Given the description of an element on the screen output the (x, y) to click on. 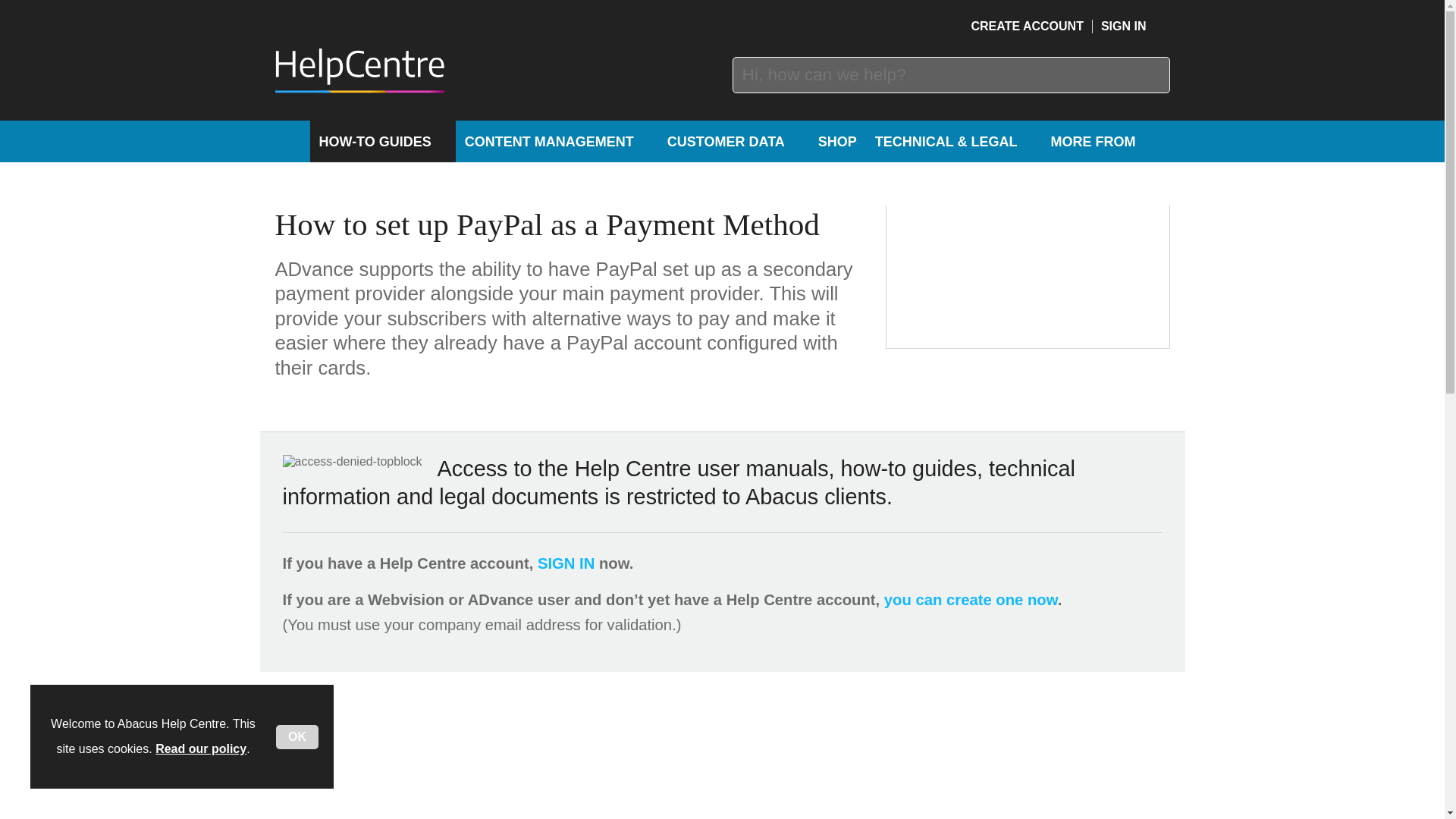
OK (297, 736)
SEARCH (1151, 74)
CREATE ACCOUNT (1027, 26)
Read our policy (200, 748)
SIGN IN (1135, 26)
